Given the description of an element on the screen output the (x, y) to click on. 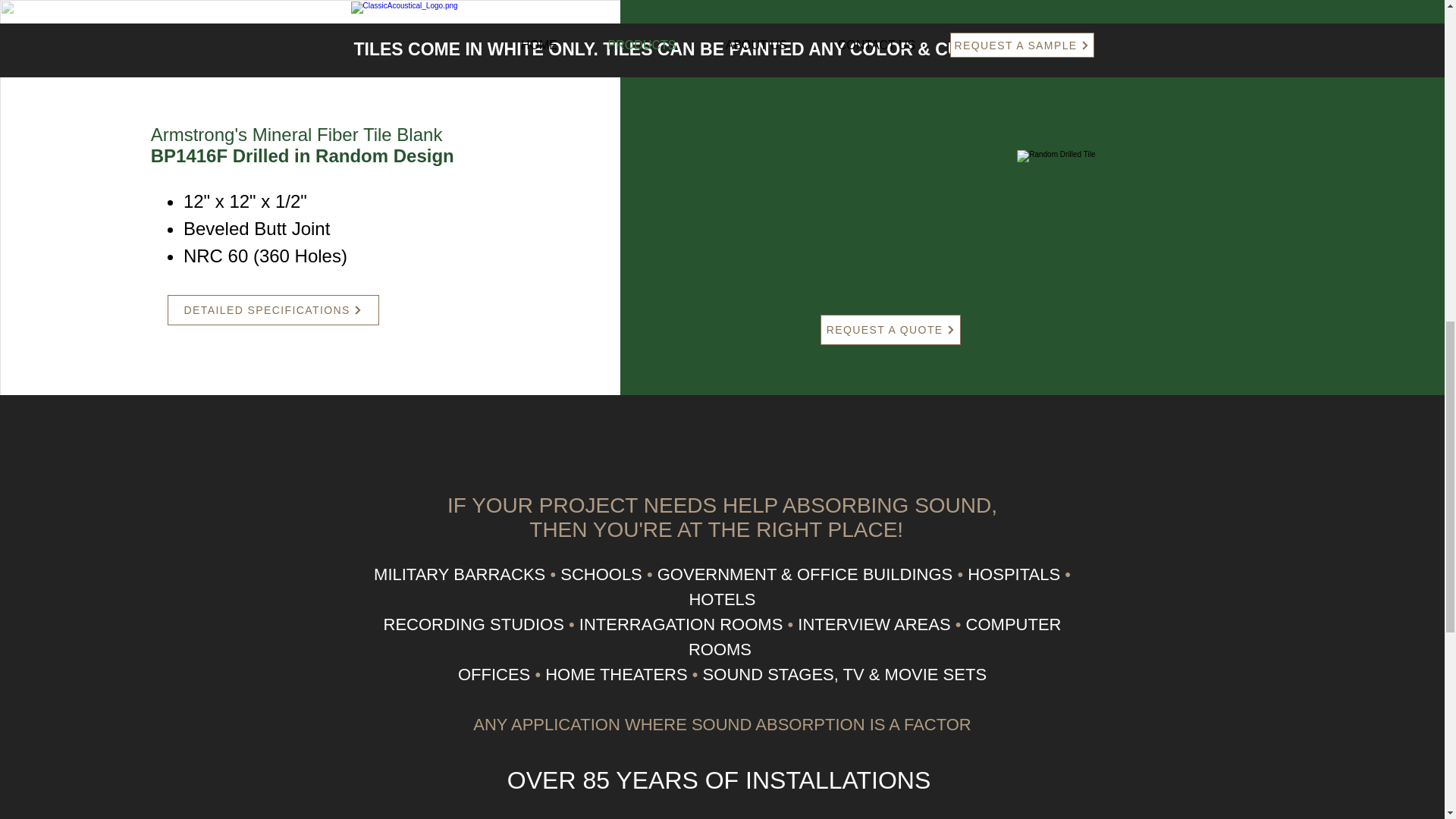
REQUEST A QUOTE (890, 329)
DETAILED SPECIFICATIONS (272, 309)
